Given the description of an element on the screen output the (x, y) to click on. 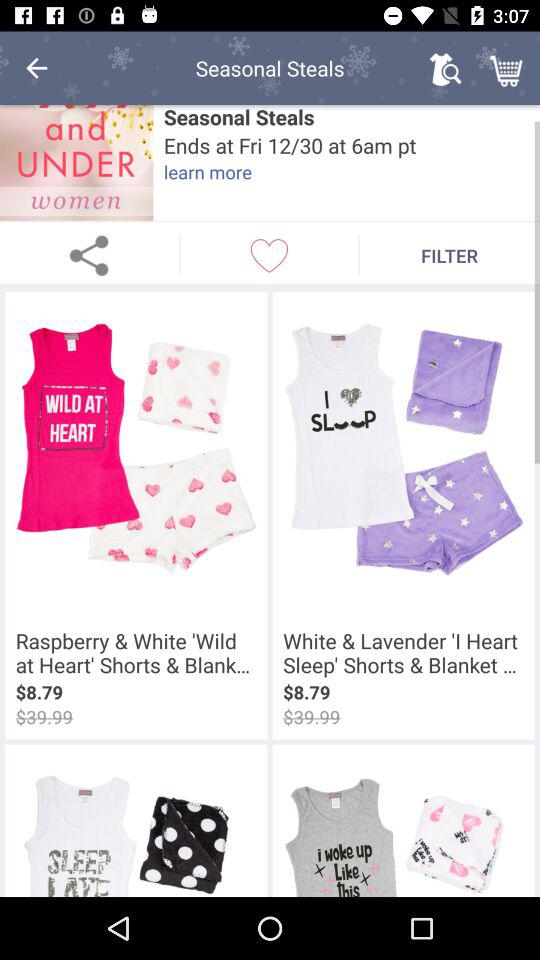
go to social media option (89, 255)
